Given the description of an element on the screen output the (x, y) to click on. 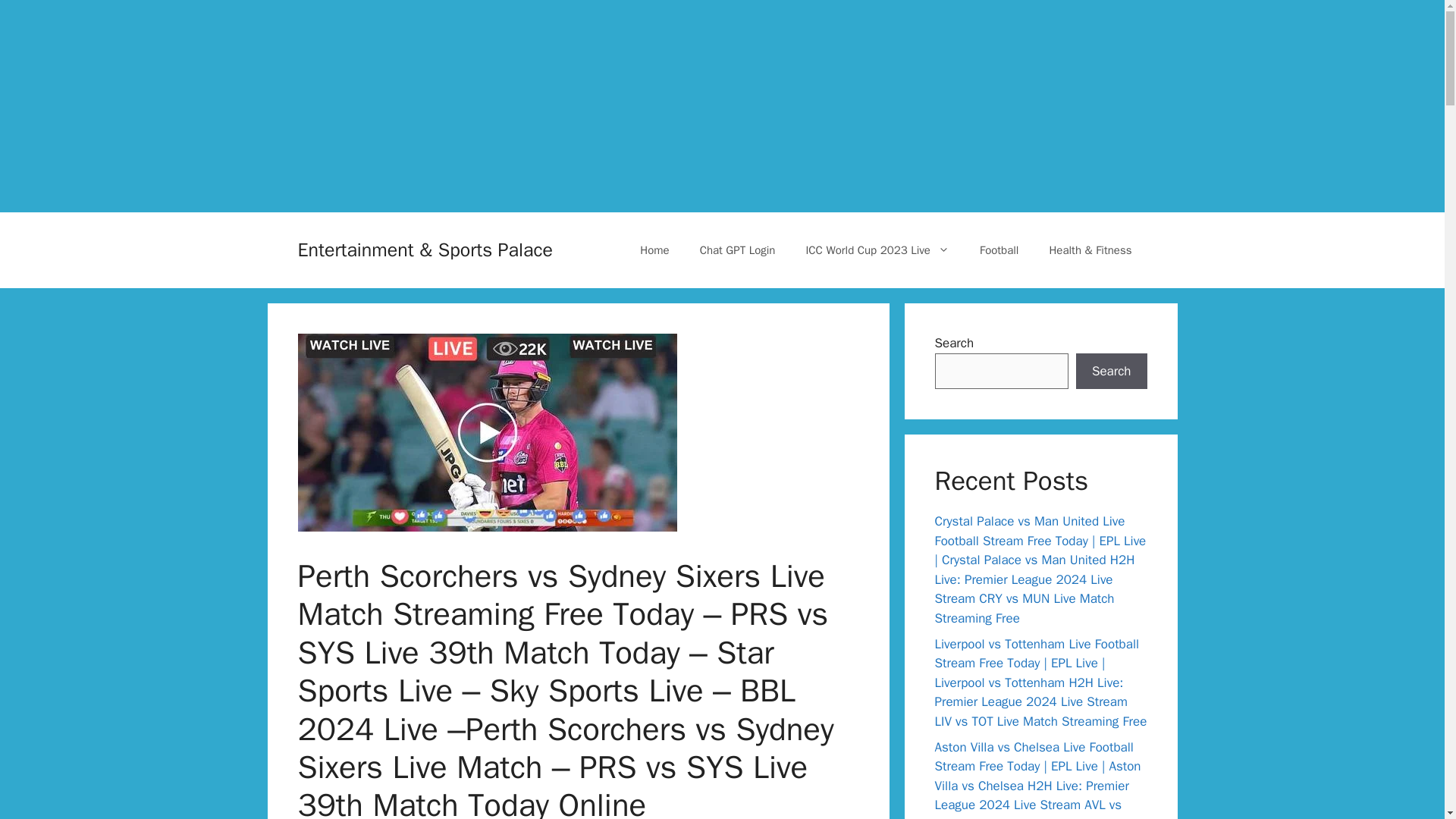
Home (654, 249)
ICC World Cup 2023 Live (876, 249)
Chat GPT Login (737, 249)
Football (998, 249)
